Given the description of an element on the screen output the (x, y) to click on. 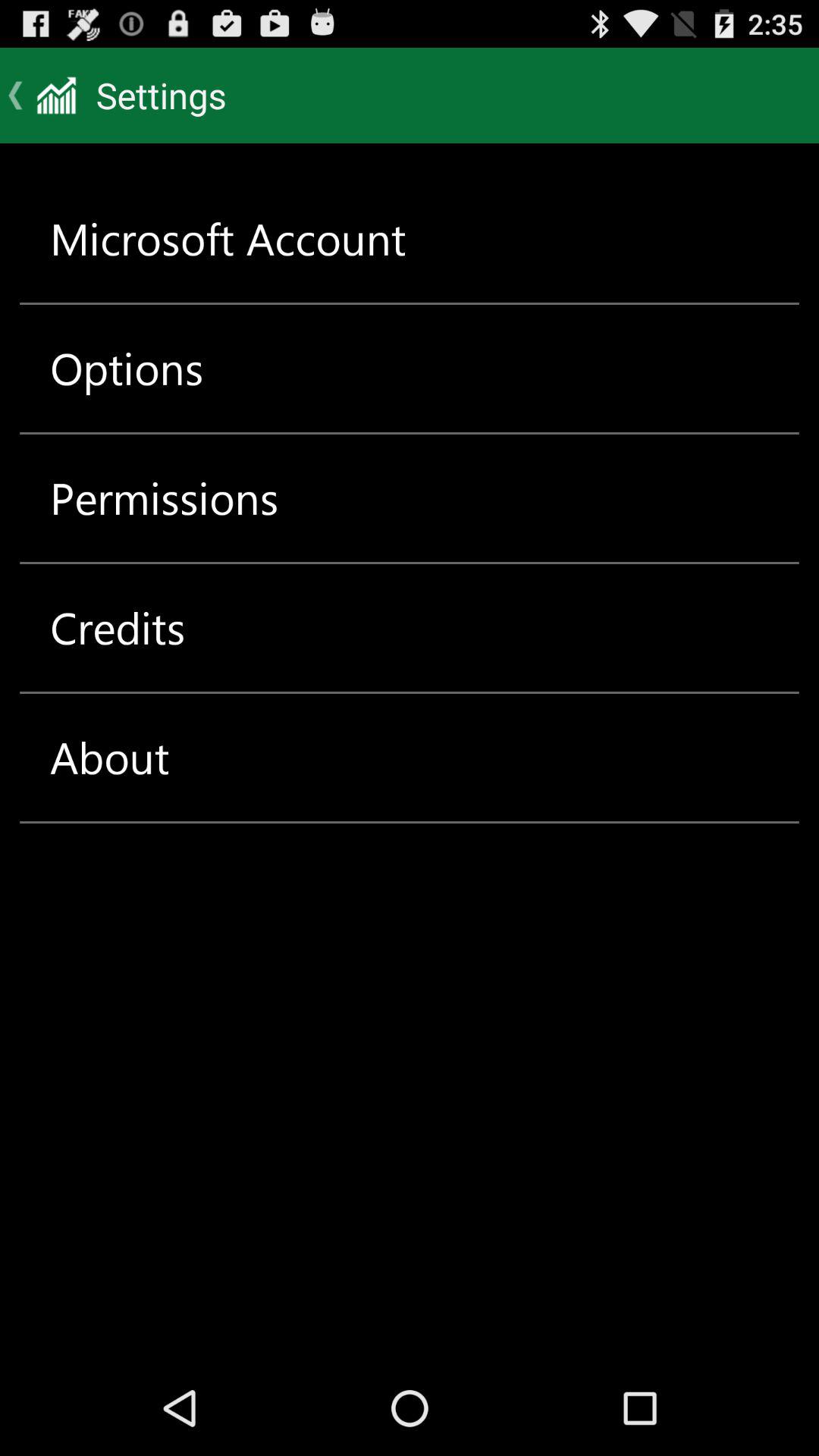
flip to the microsoft account item (228, 238)
